Given the description of an element on the screen output the (x, y) to click on. 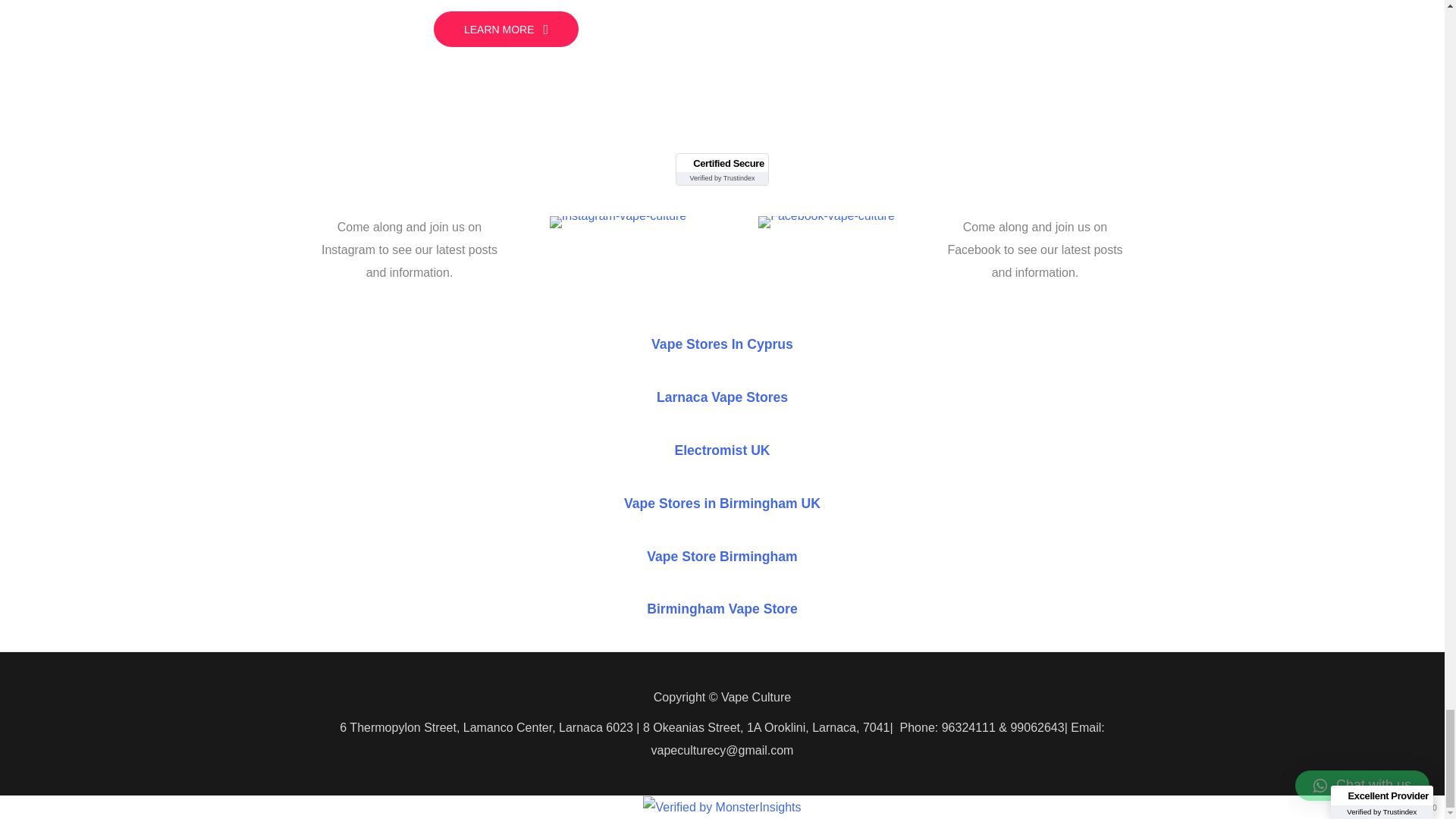
Instagram-vape-culture (618, 222)
Larnaca Vape Stores (721, 396)
Vape Stores In Cyprus (721, 344)
Electromist UK (722, 450)
Facebook-vape-culture (826, 222)
Vape Store Birmingham (721, 555)
LEARN MORE (505, 29)
Vape Stores in Birmingham UK (722, 503)
